Given the description of an element on the screen output the (x, y) to click on. 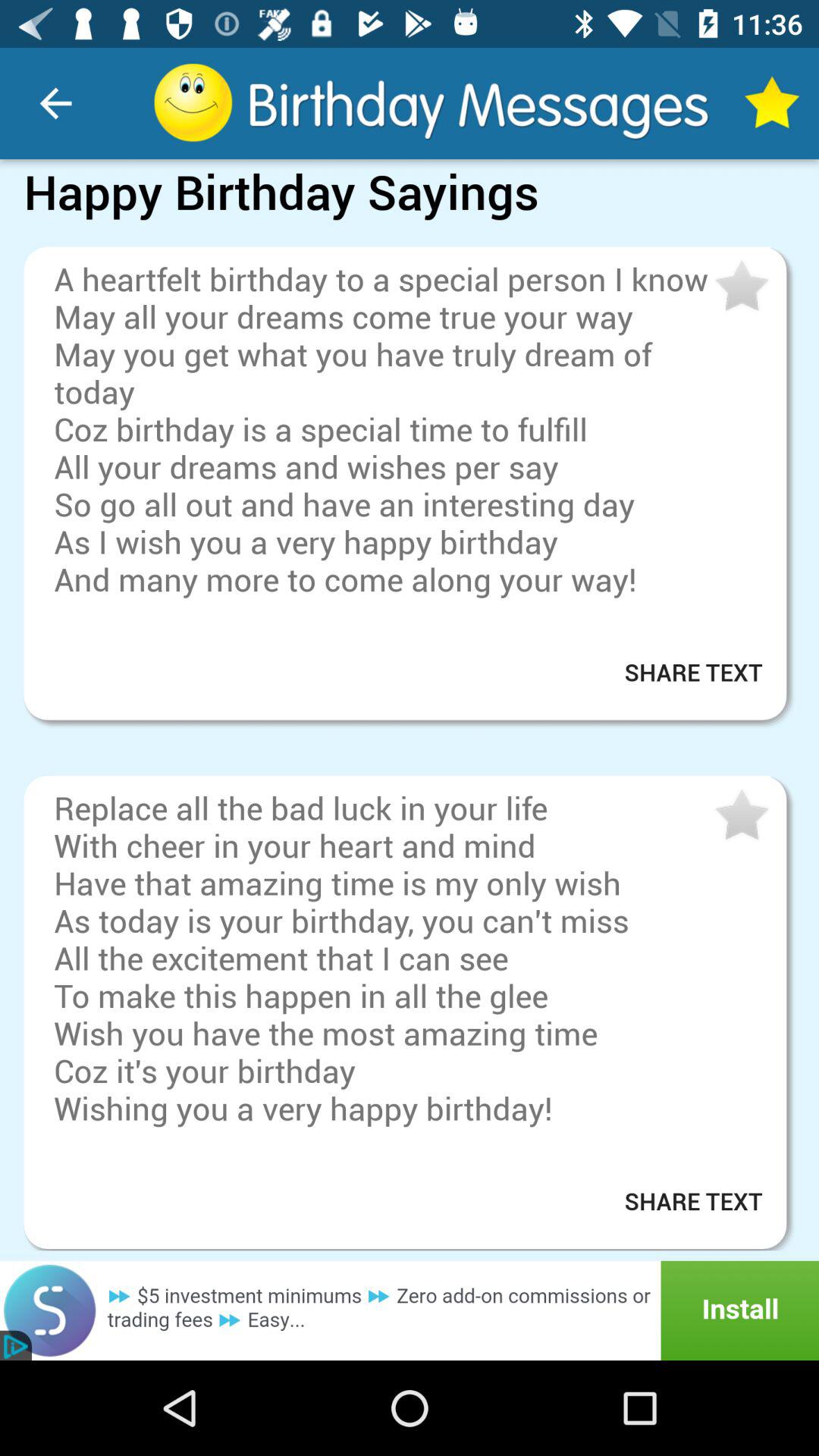
saves the message as a favorite (740, 286)
